Given the description of an element on the screen output the (x, y) to click on. 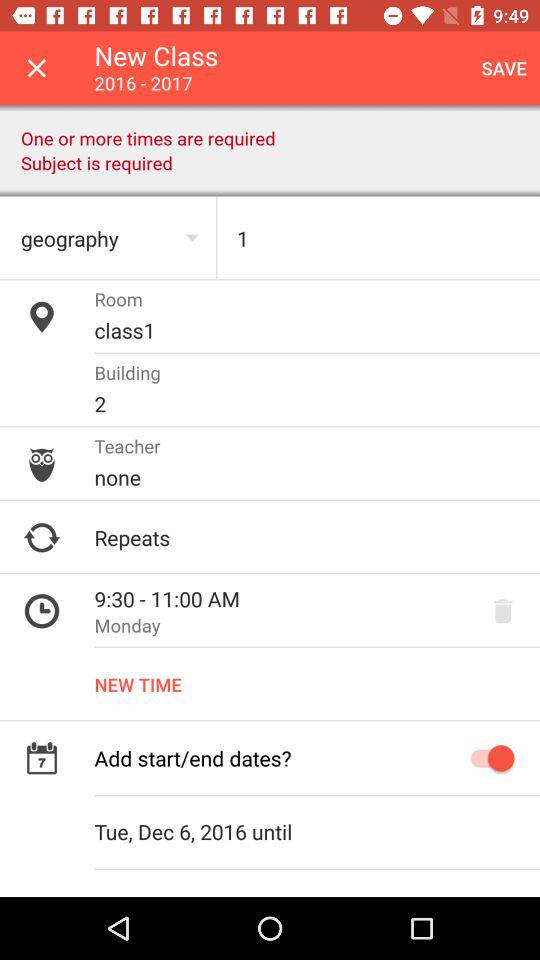
put in trash can (503, 611)
